Given the description of an element on the screen output the (x, y) to click on. 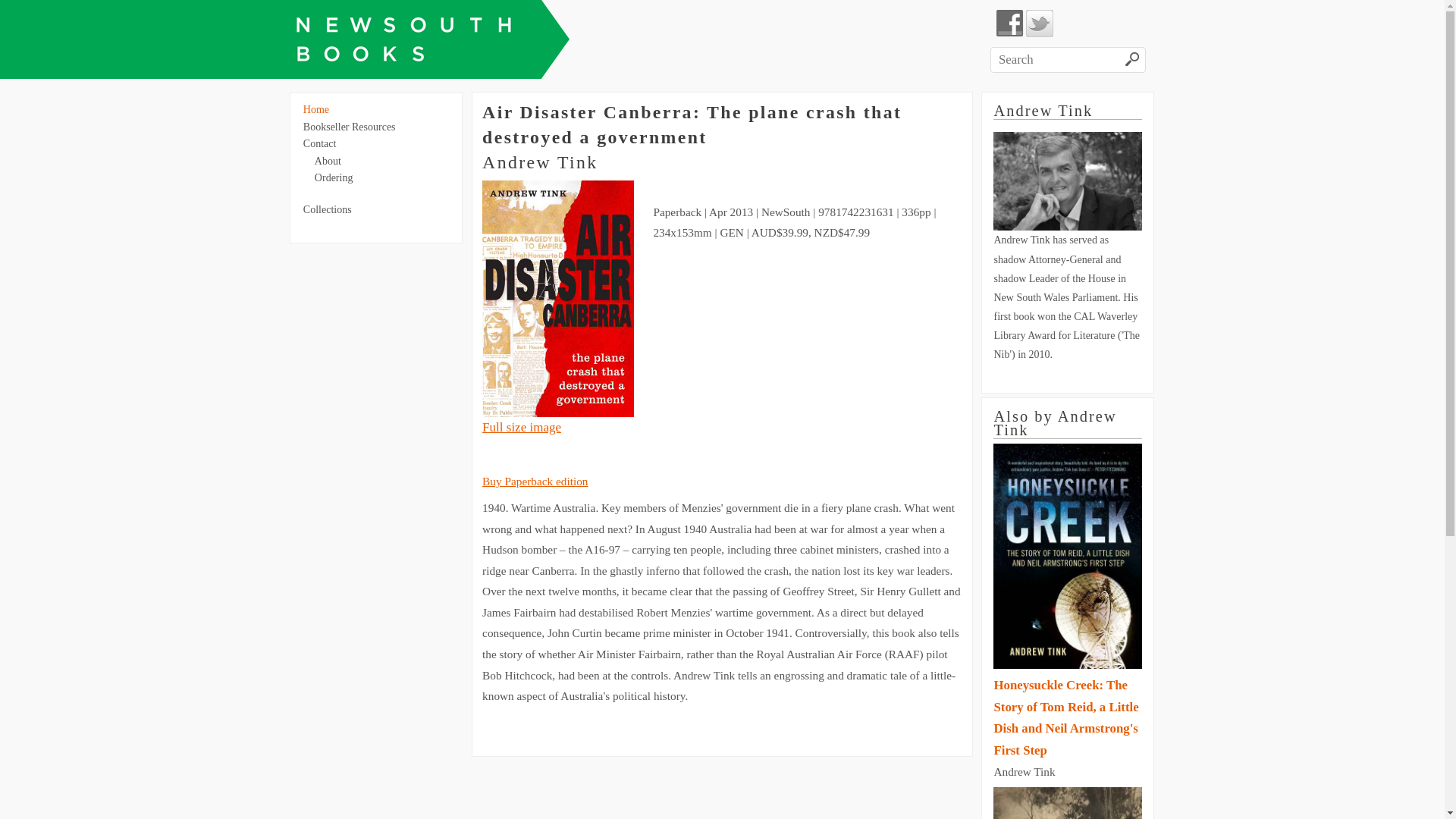
Search Element type: text (1132, 60)
Contact Element type: text (319, 143)
Twitter Element type: text (1039, 23)
Full size image Element type: text (521, 427)
Ordering Element type: text (333, 177)
Buy Paperback edition Element type: text (534, 480)
Collections Element type: text (327, 209)
About Element type: text (327, 160)
Home Element type: text (316, 109)
Bookseller Resources Element type: text (349, 126)
Facebook Element type: text (1009, 23)
